Given the description of an element on the screen output the (x, y) to click on. 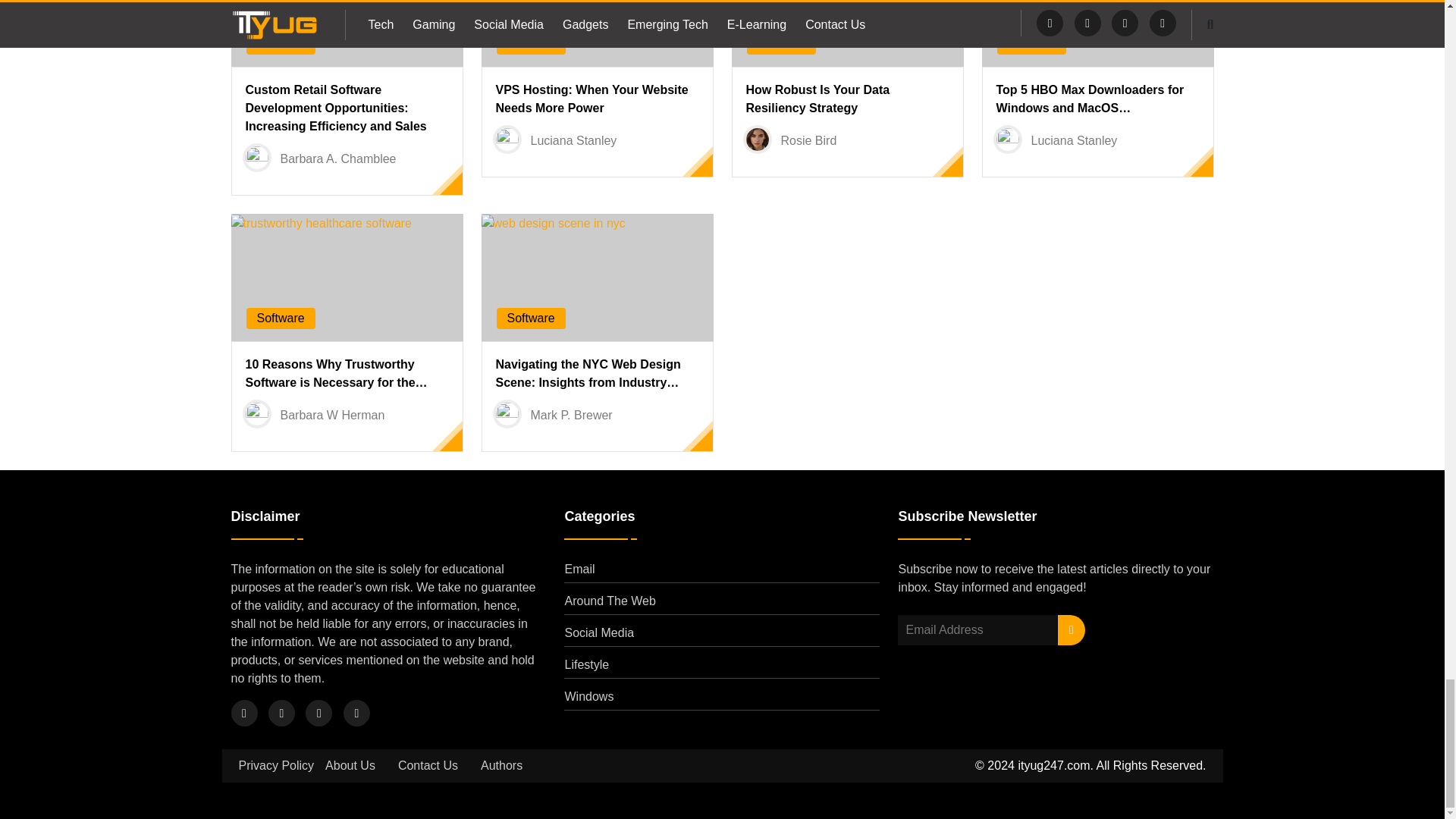
Luciana Stanley (574, 140)
Software (280, 42)
Software (530, 42)
VPS Hosting: When Your Website Needs More Power (592, 98)
Barbara A. Chamblee (338, 158)
